Given the description of an element on the screen output the (x, y) to click on. 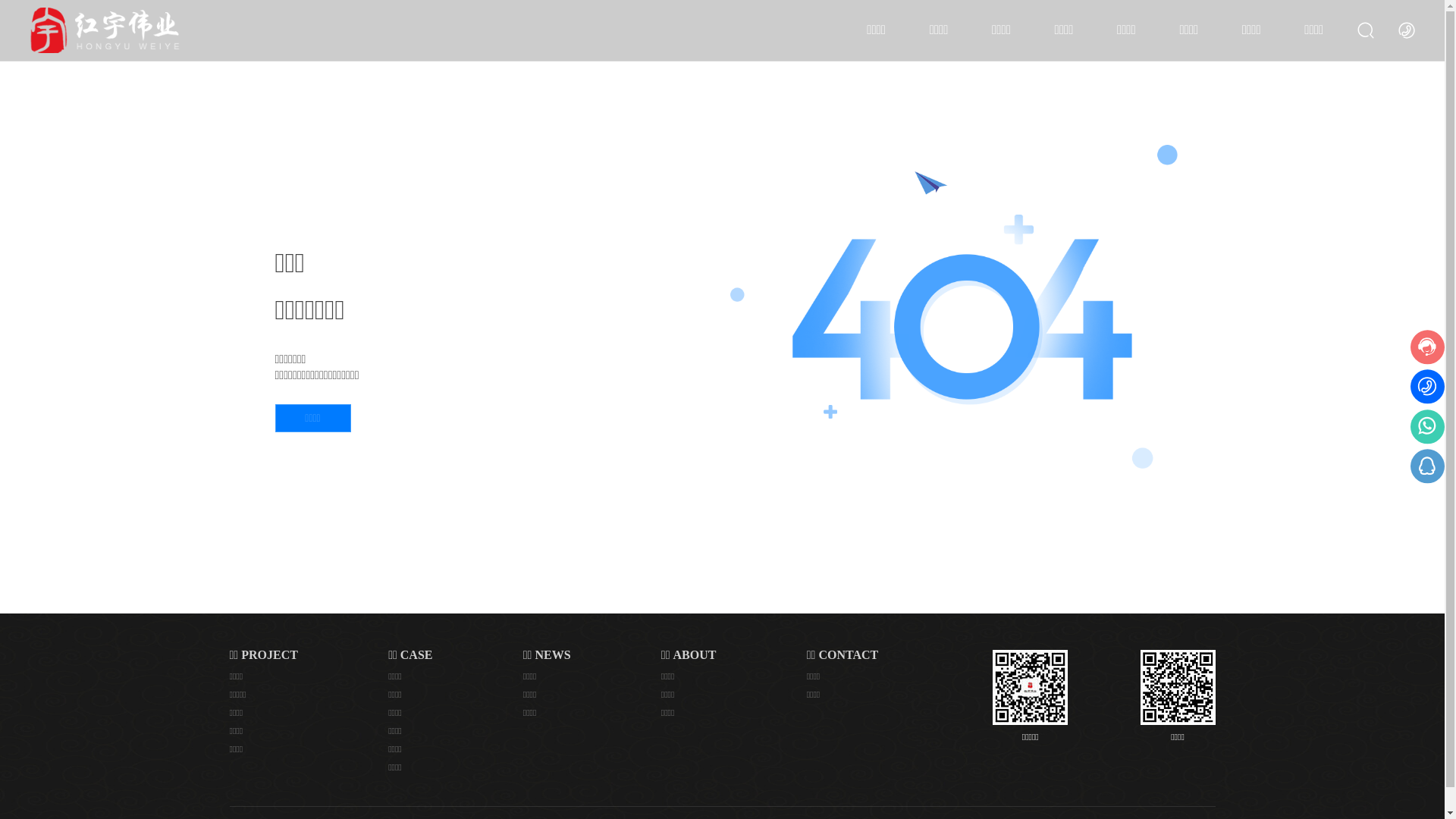
ENGLISH Element type: hover (1406, 29)
